Given the description of an element on the screen output the (x, y) to click on. 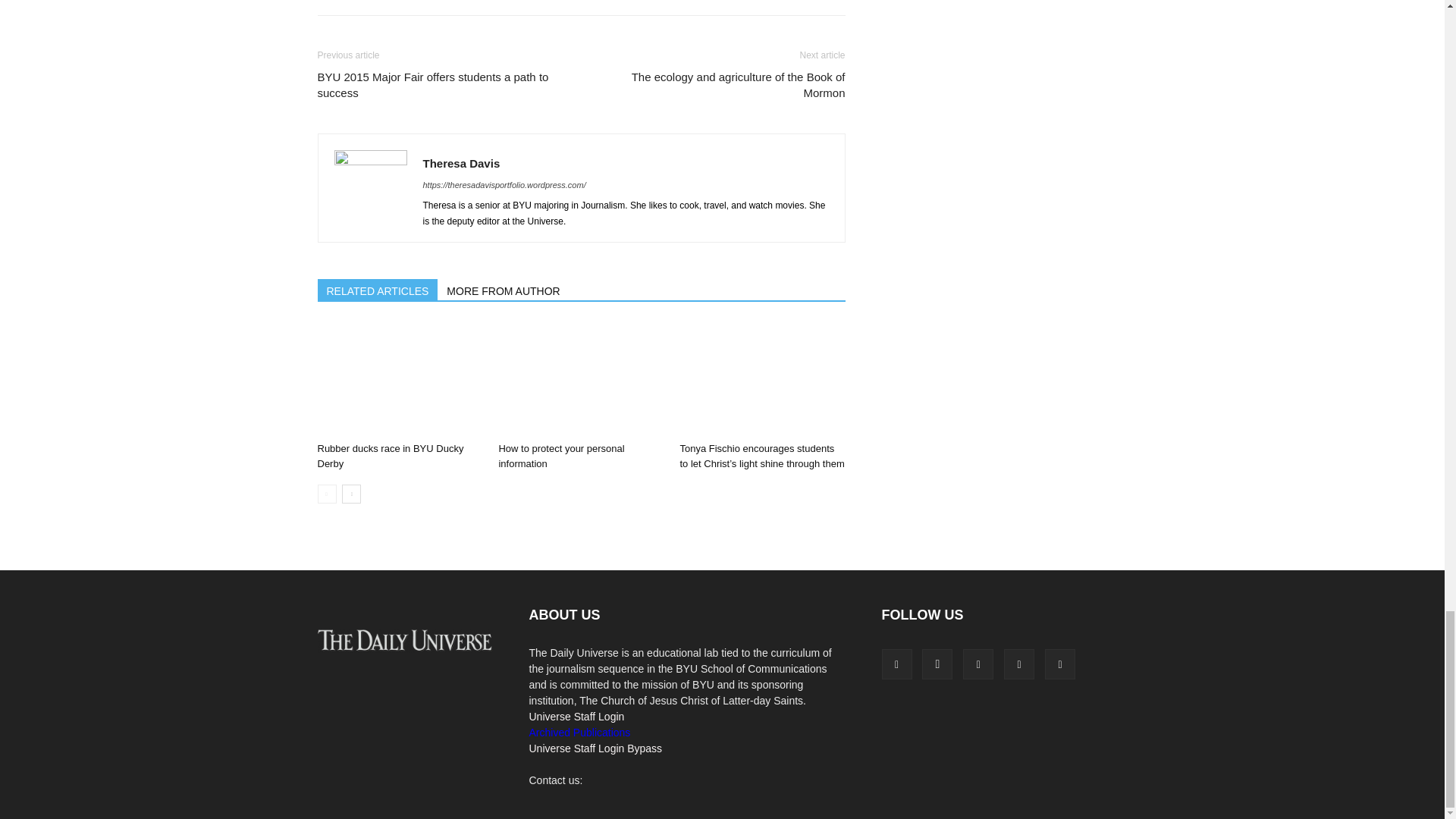
Rubber ducks race in BYU Ducky Derby (399, 378)
